Given the description of an element on the screen output the (x, y) to click on. 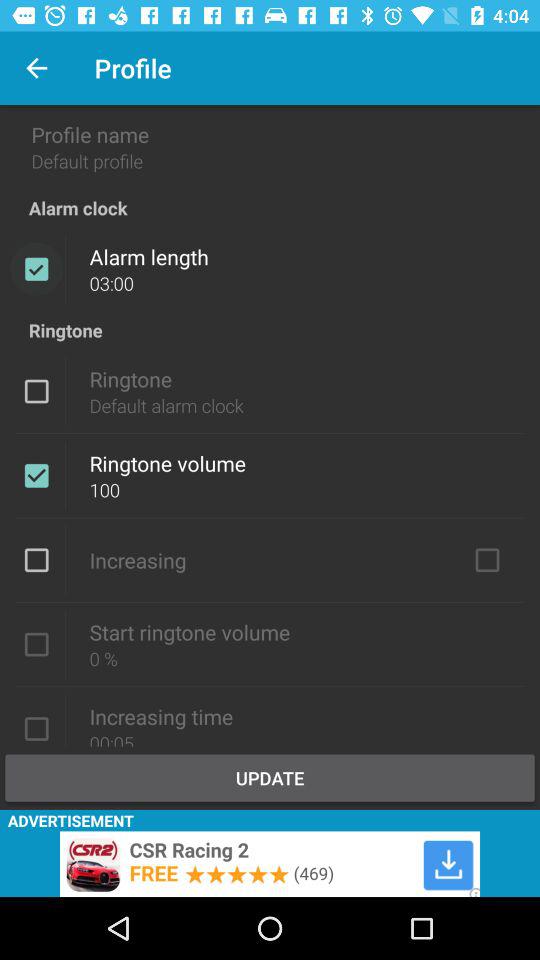
activate ringtone (36, 391)
